Given the description of an element on the screen output the (x, y) to click on. 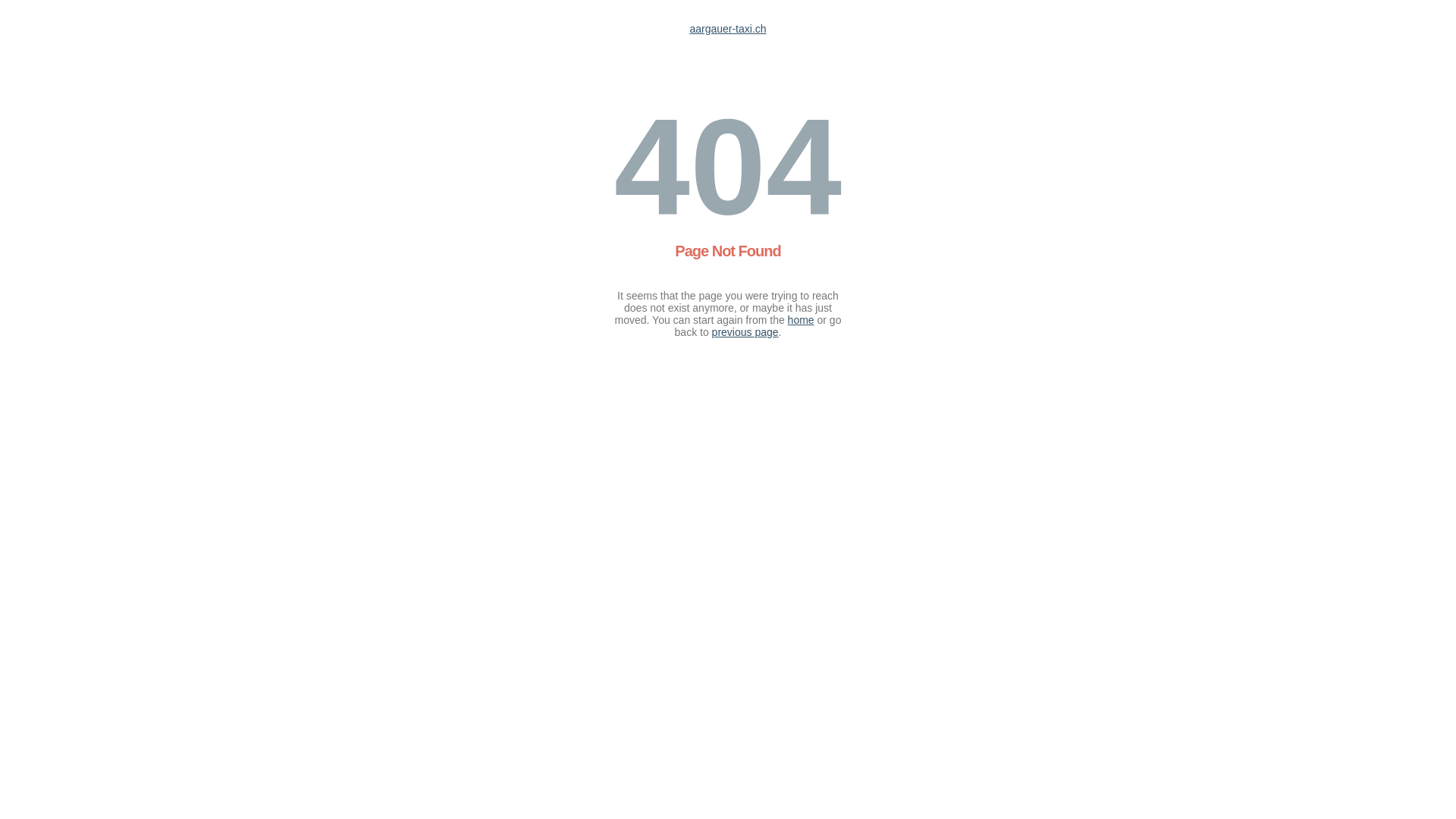
home Element type: text (800, 319)
previous page Element type: text (745, 332)
aargauer-taxi.ch Element type: text (727, 28)
